Given the description of an element on the screen output the (x, y) to click on. 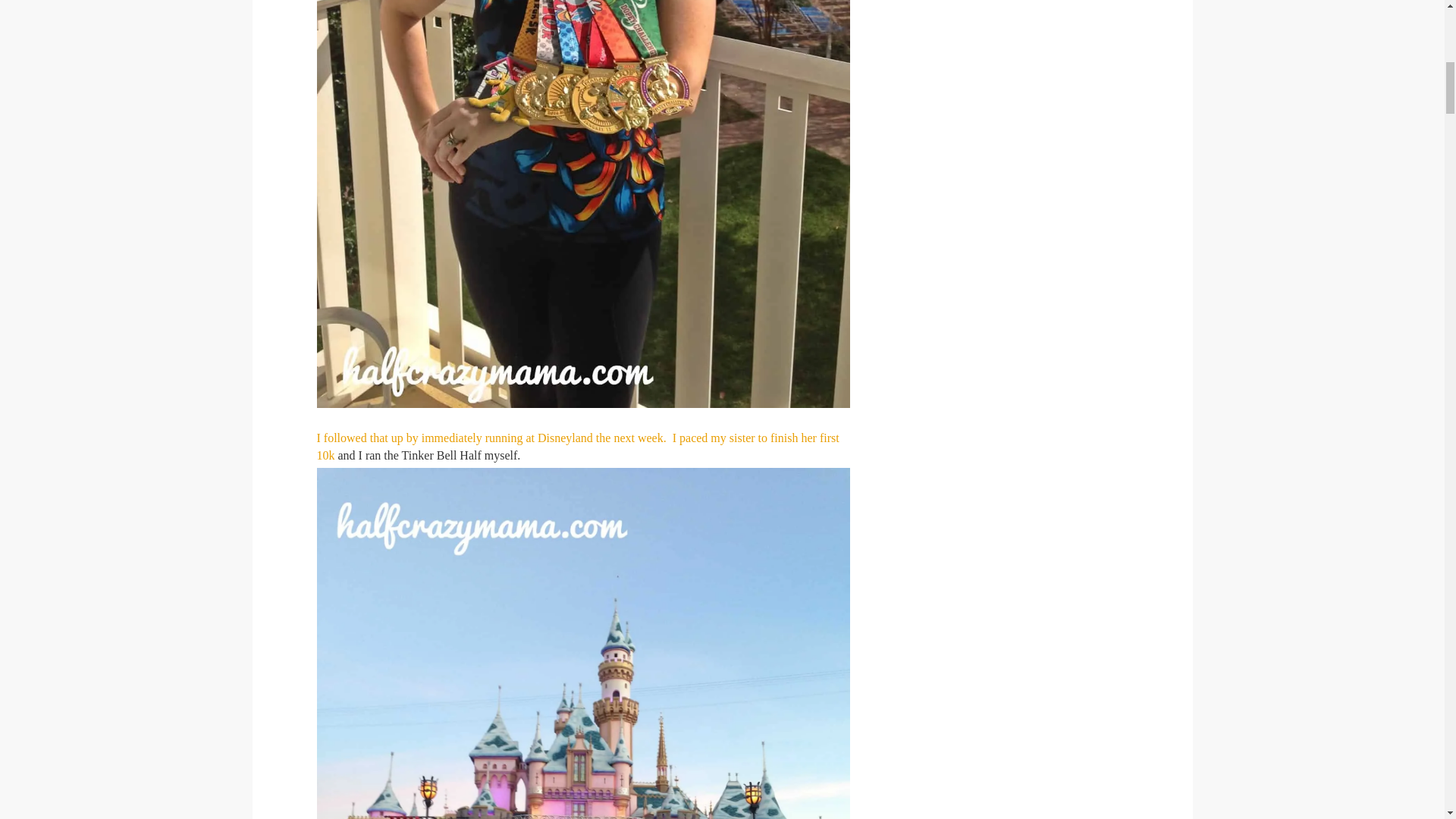
I paced my sister to finish her first 10k (578, 446)
